Given the description of an element on the screen output the (x, y) to click on. 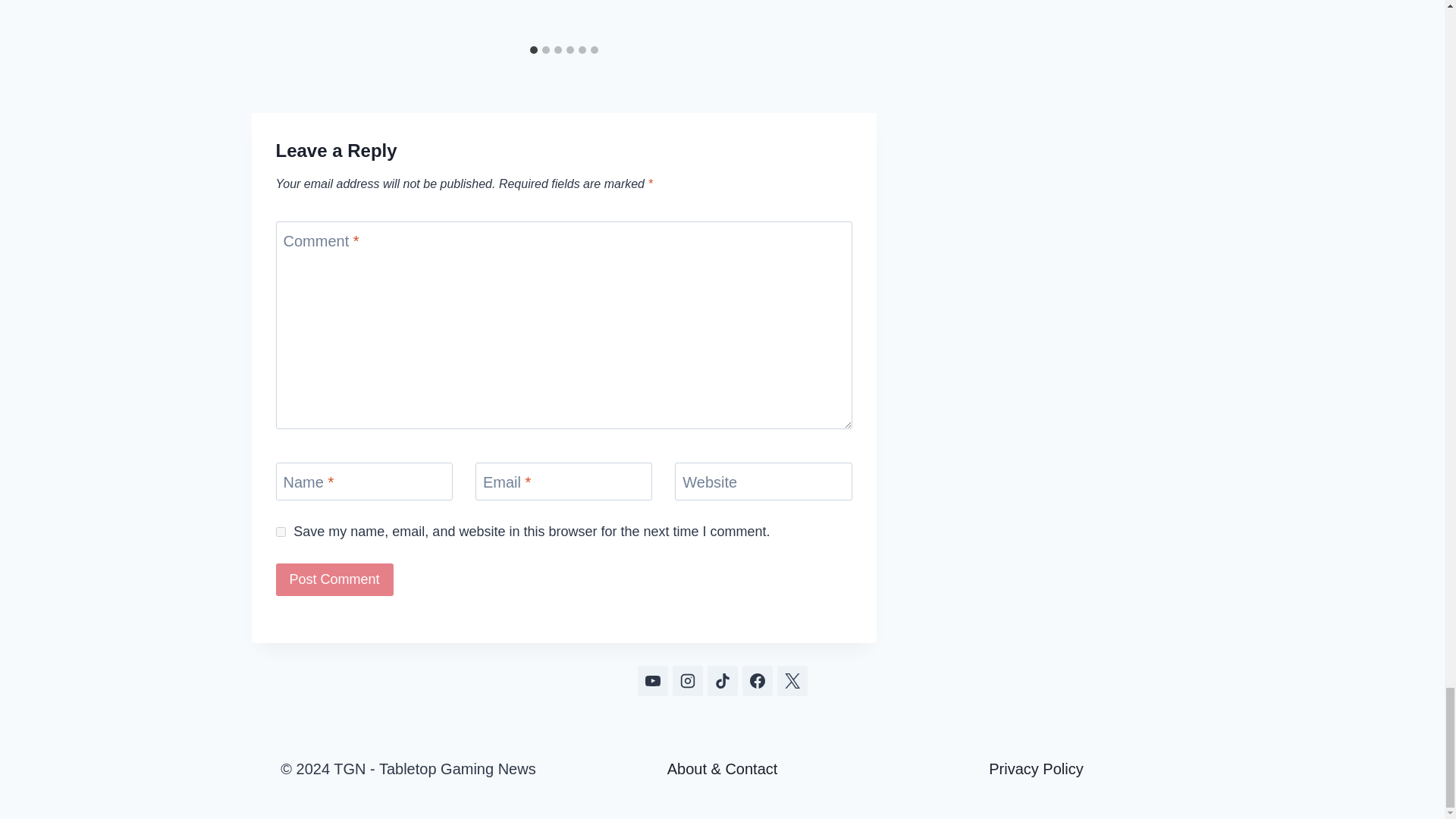
yes (280, 532)
Post Comment (334, 579)
